Given the description of an element on the screen output the (x, y) to click on. 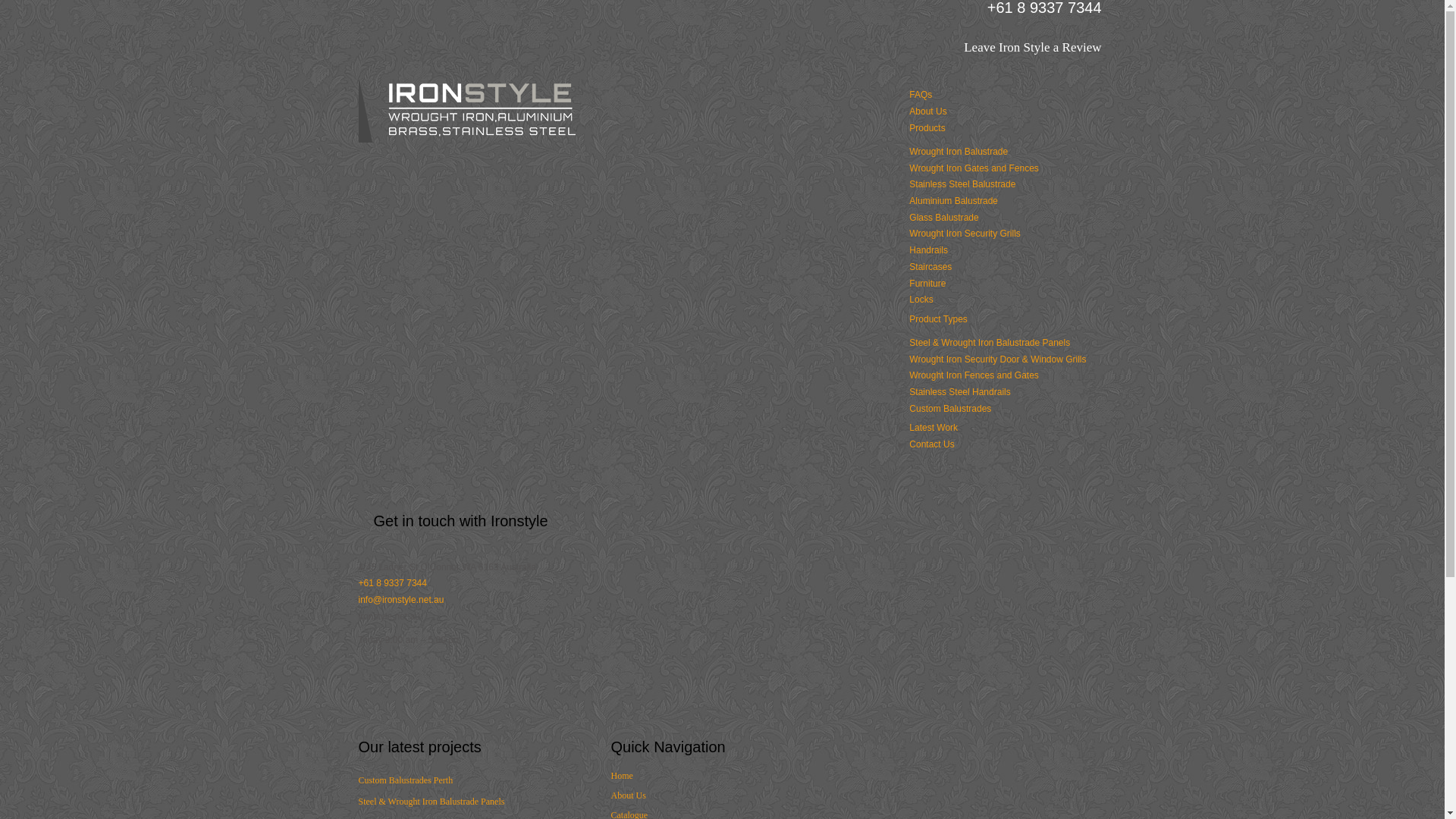
Furniture Element type: text (927, 283)
Wrought Iron Gates and Fences Element type: text (973, 168)
Custom Balustrades Element type: text (950, 408)
Custom Balustrades Perth Element type: text (404, 780)
Wrought Iron Balustrade Element type: text (958, 151)
Home Element type: text (622, 775)
Aluminium Balustrade Element type: text (953, 200)
Wrought Iron Security Door & Window Grills Element type: text (997, 359)
Product Types Element type: text (938, 318)
+61 8 9337 7344 Element type: text (391, 582)
Steel & Wrought Iron Balustrade Panels Element type: text (430, 801)
Stainless Steel Handrails Element type: text (959, 391)
Stainless Steel Balustrade Element type: text (962, 183)
Wrought Iron Fences and Gates Element type: text (973, 375)
Contact Us Element type: text (931, 444)
Locks Element type: text (920, 299)
Wrought Iron Security Grills Element type: text (964, 233)
Handrails Element type: text (928, 249)
About Us Element type: text (628, 795)
Staircases Element type: text (930, 266)
IronStyle Element type: hover (467, 139)
info@ironstyle.net.au Element type: text (400, 599)
Leave Iron Style a Review Element type: text (1032, 47)
About Us Element type: text (927, 111)
Products Element type: text (926, 127)
Latest Work Element type: text (933, 427)
FAQs Element type: text (920, 94)
Steel & Wrought Iron Balustrade Panels Element type: text (989, 342)
Glass Balustrade Element type: text (943, 217)
